Given the description of an element on the screen output the (x, y) to click on. 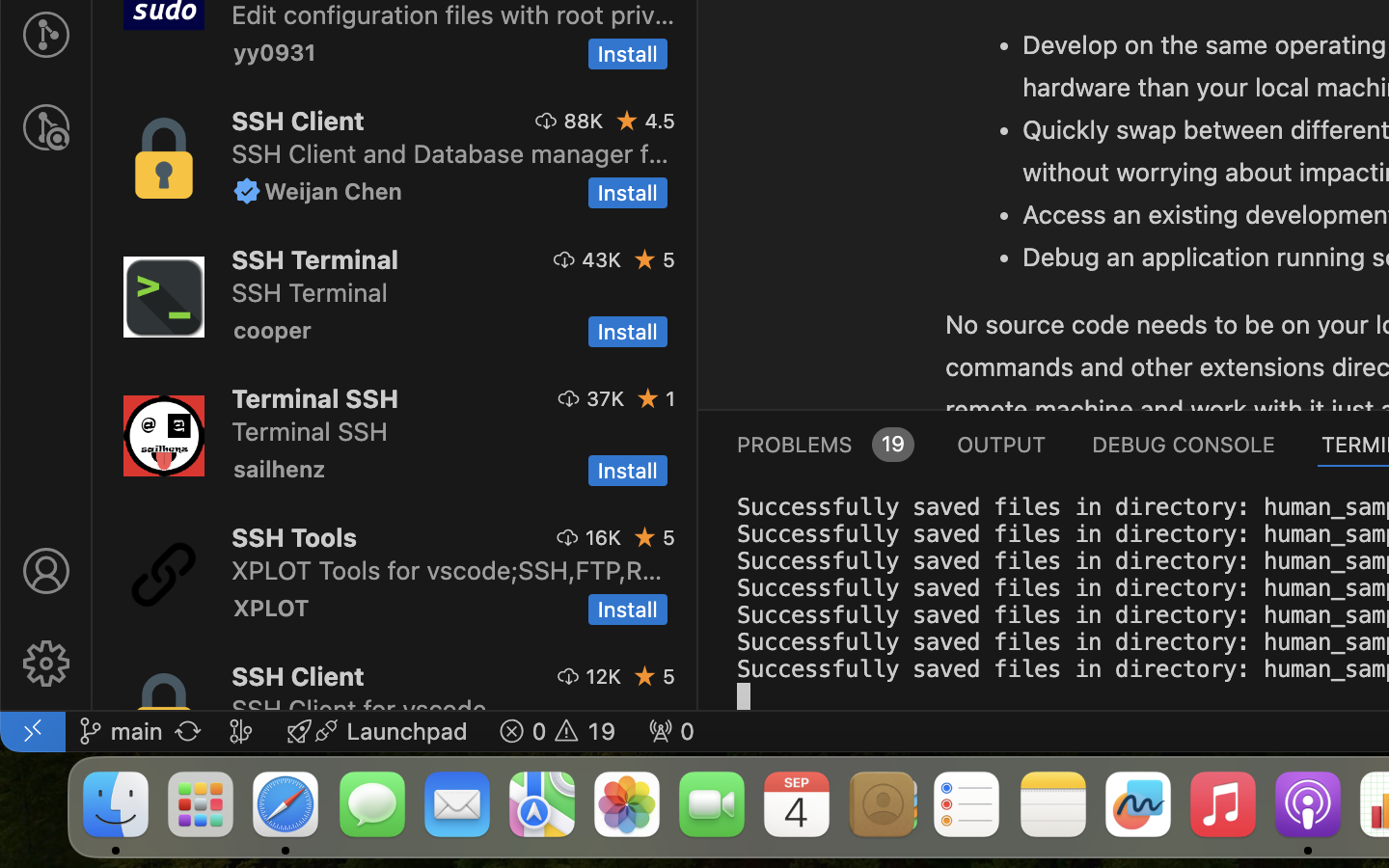
SSH Client Element type: AXStaticText (297, 120)
19  0  Element type: AXButton (557, 730)
16K Element type: AXStaticText (602, 536)
yy0931 Element type: AXStaticText (274, 51)
SSH Client and Database manager for MySQL/MariaDB, PostgreSQL, SQLite, Redis and ElasticSearch. Element type: AXStaticText (450, 152)
